Given the description of an element on the screen output the (x, y) to click on. 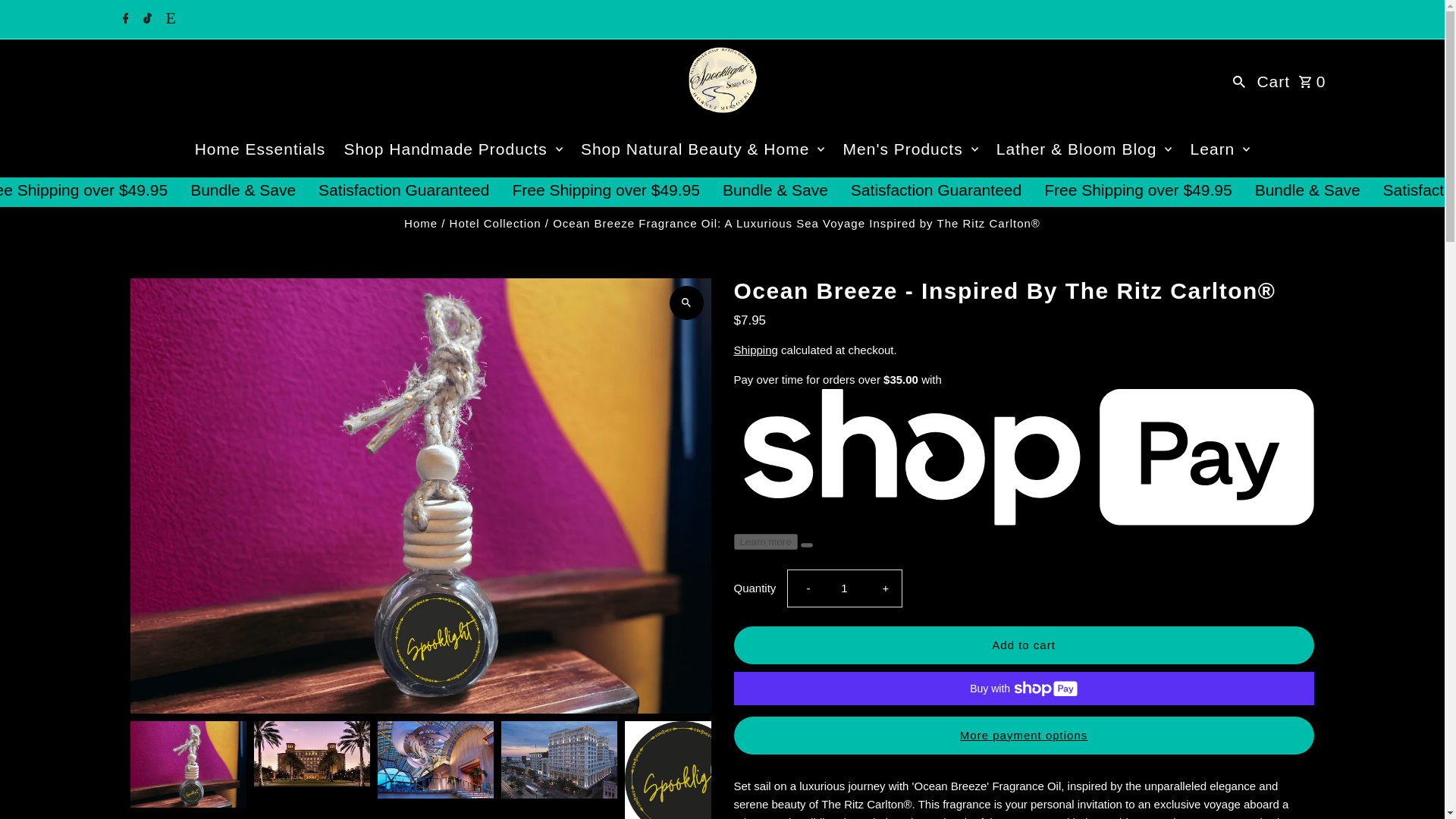
Satisfaction Guaranteed (620, 189)
1 (844, 588)
Hotel Collection (495, 223)
Satisfaction Guaranteed (1133, 189)
Home (421, 223)
Shop Handmade Products (452, 149)
Home Essentials (260, 149)
Satisfaction Guaranteed (115, 189)
Satisfaction Guaranteed (1136, 189)
Add to cart (1023, 645)
Satisfaction Guaranteed (111, 189)
Satisfaction Guaranteed (623, 189)
Click to zoom (685, 302)
